Given the description of an element on the screen output the (x, y) to click on. 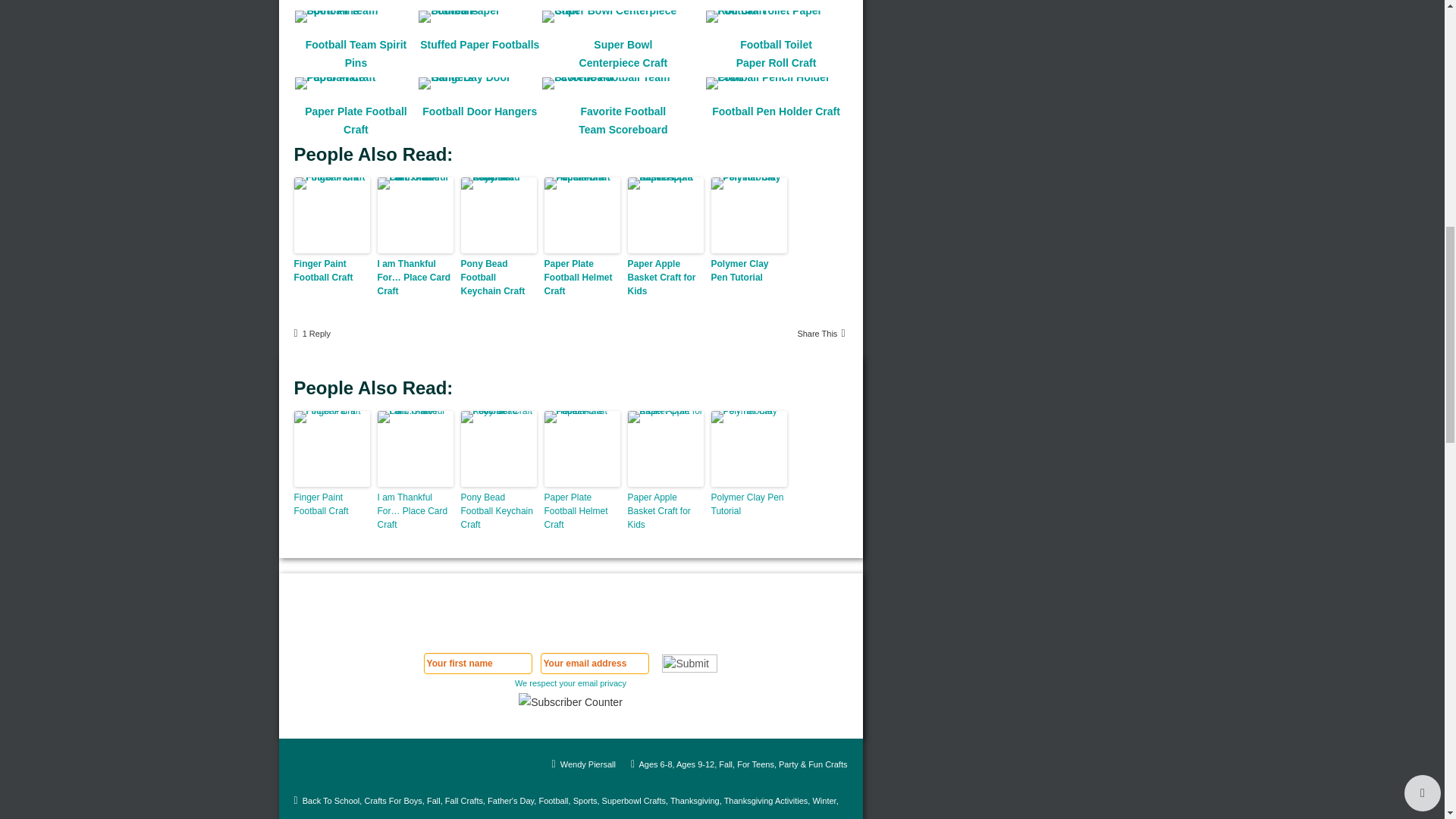
Super Bowl Centerpiece Craft (617, 16)
Football Team Spirit Pins (350, 16)
your first name (616, 80)
Submit (689, 663)
Your first name (477, 663)
Decorate a Football Helmet (355, 1)
Your email address (593, 663)
Stuffed Paper Footballs (474, 16)
your email address (761, 80)
Football Toilet Paper Roll Craft (770, 16)
